Given the description of an element on the screen output the (x, y) to click on. 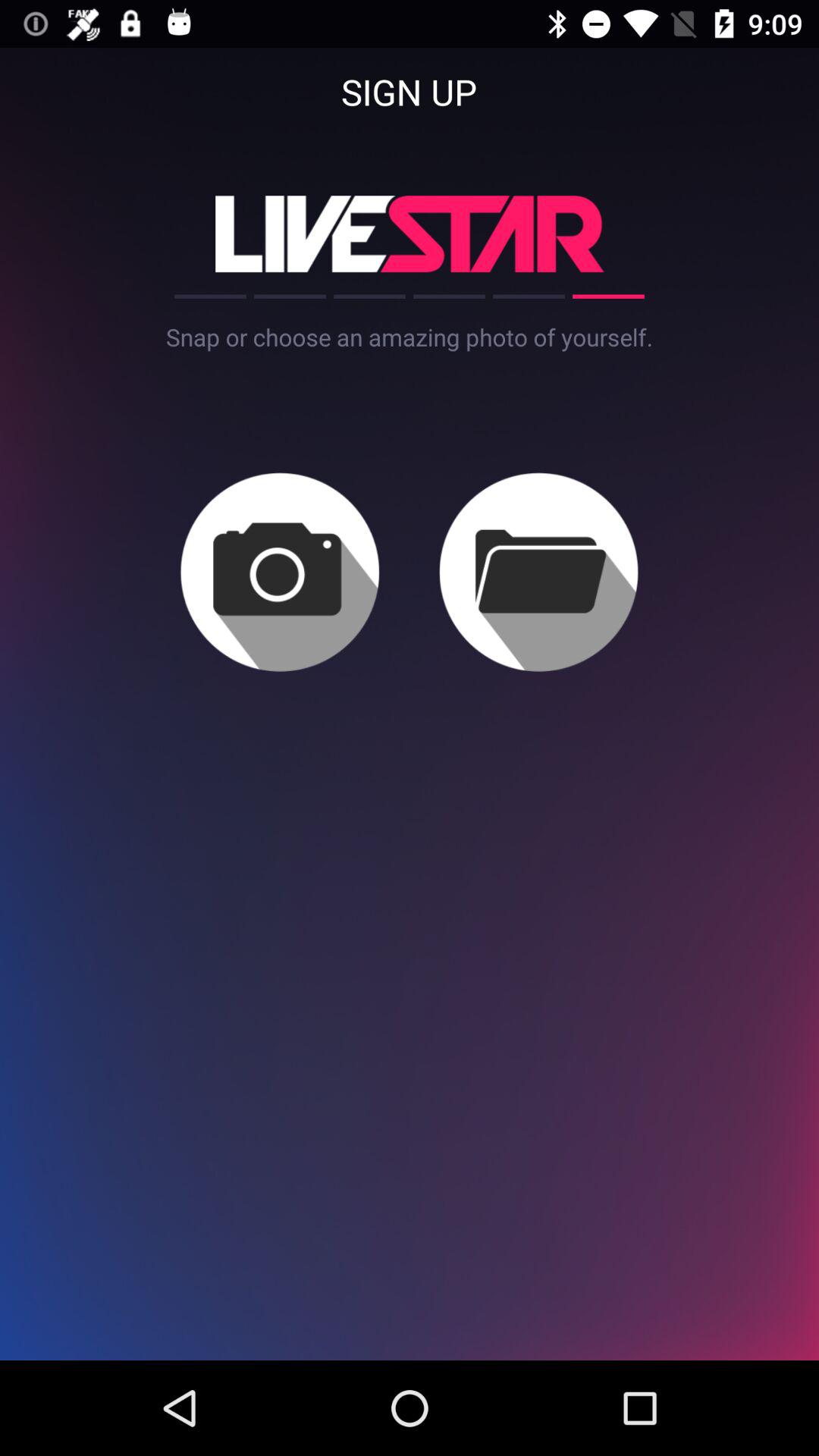
open the camera (279, 571)
